Given the description of an element on the screen output the (x, y) to click on. 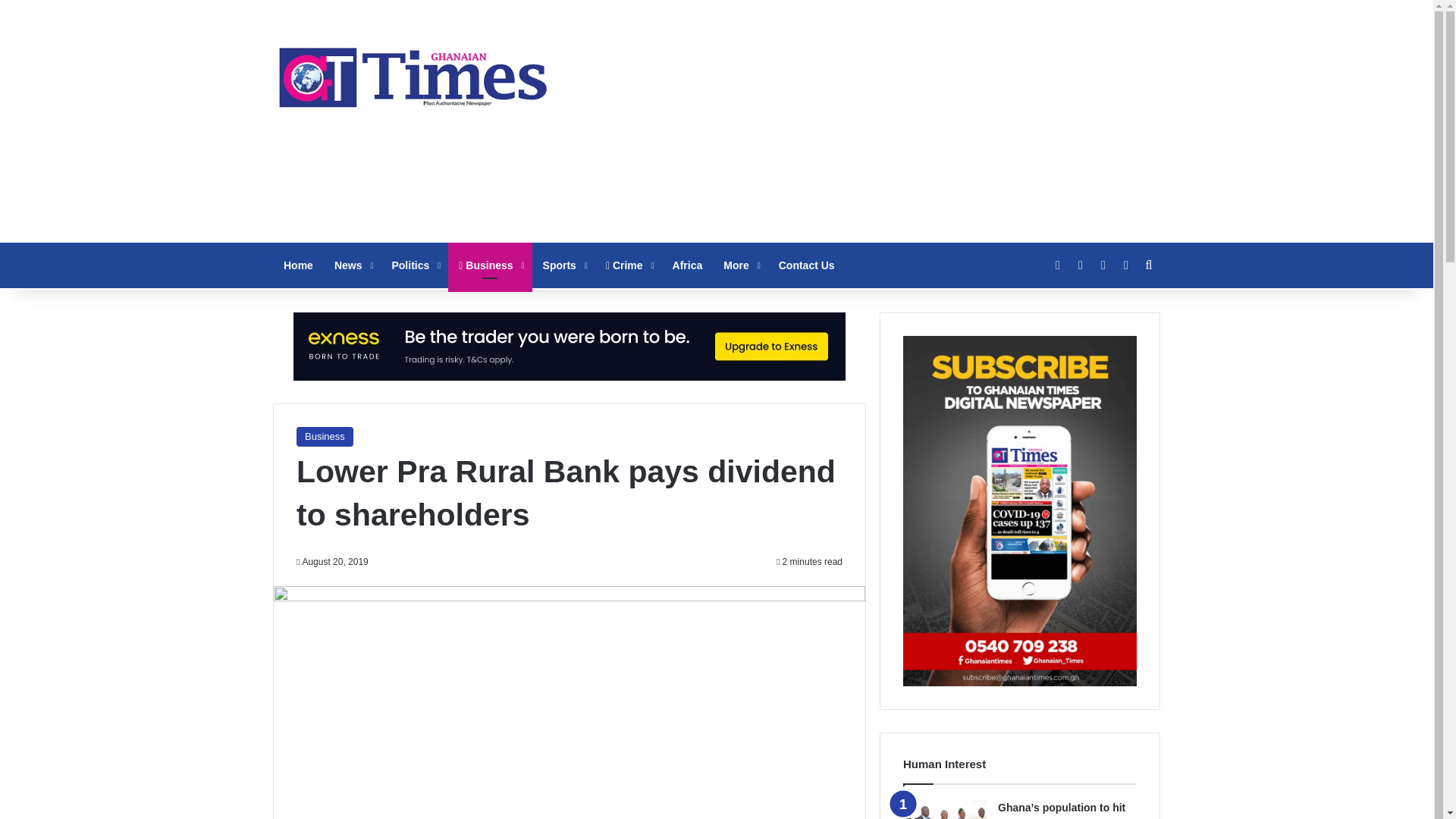
Ghanaian Times (413, 72)
Sports (563, 265)
Contact Us (806, 265)
Home (298, 265)
Politics (414, 265)
Business (325, 436)
News (352, 265)
Crime (628, 265)
Advertisement (868, 121)
Africa (687, 265)
